Given the description of an element on the screen output the (x, y) to click on. 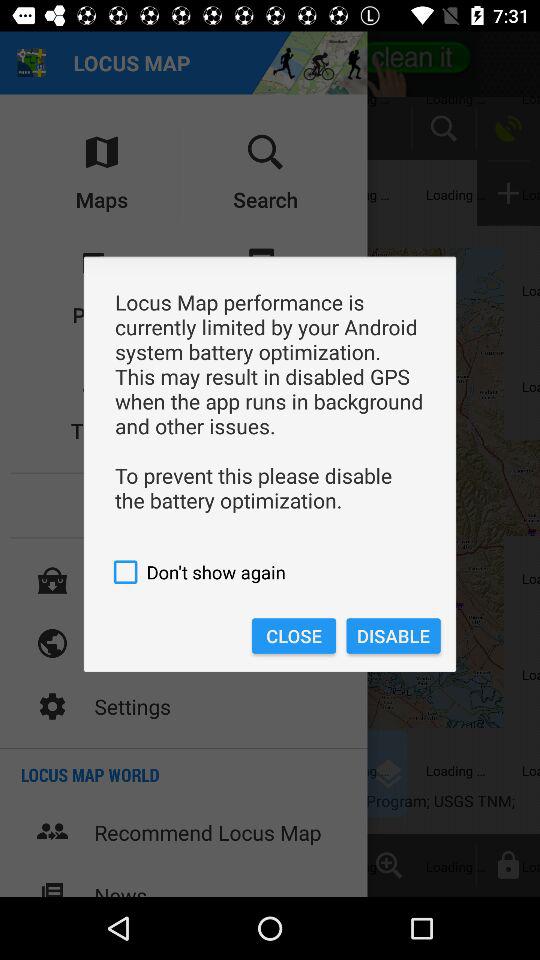
flip to the close item (293, 635)
